Given the description of an element on the screen output the (x, y) to click on. 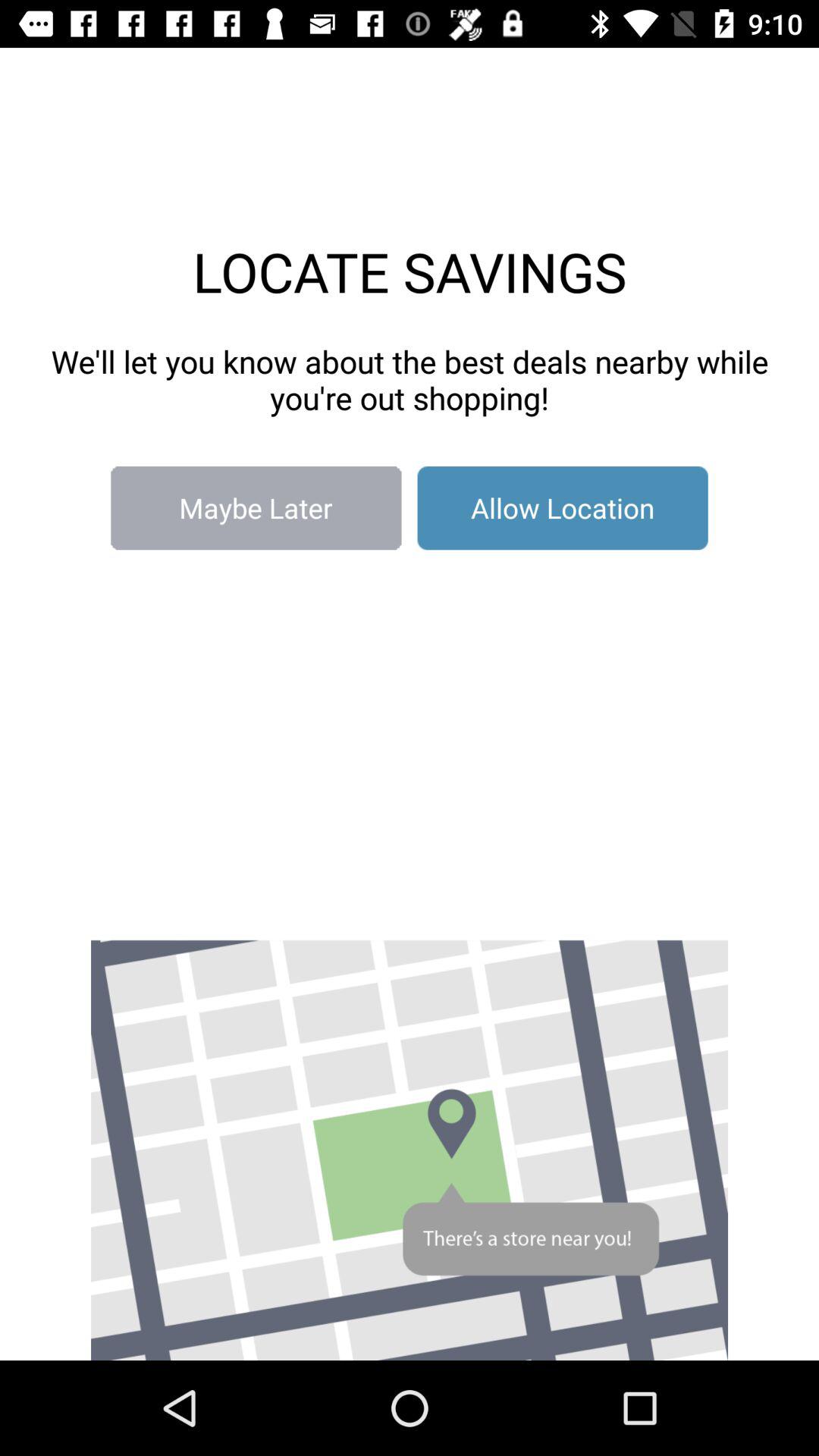
jump to allow location (562, 507)
